Given the description of an element on the screen output the (x, y) to click on. 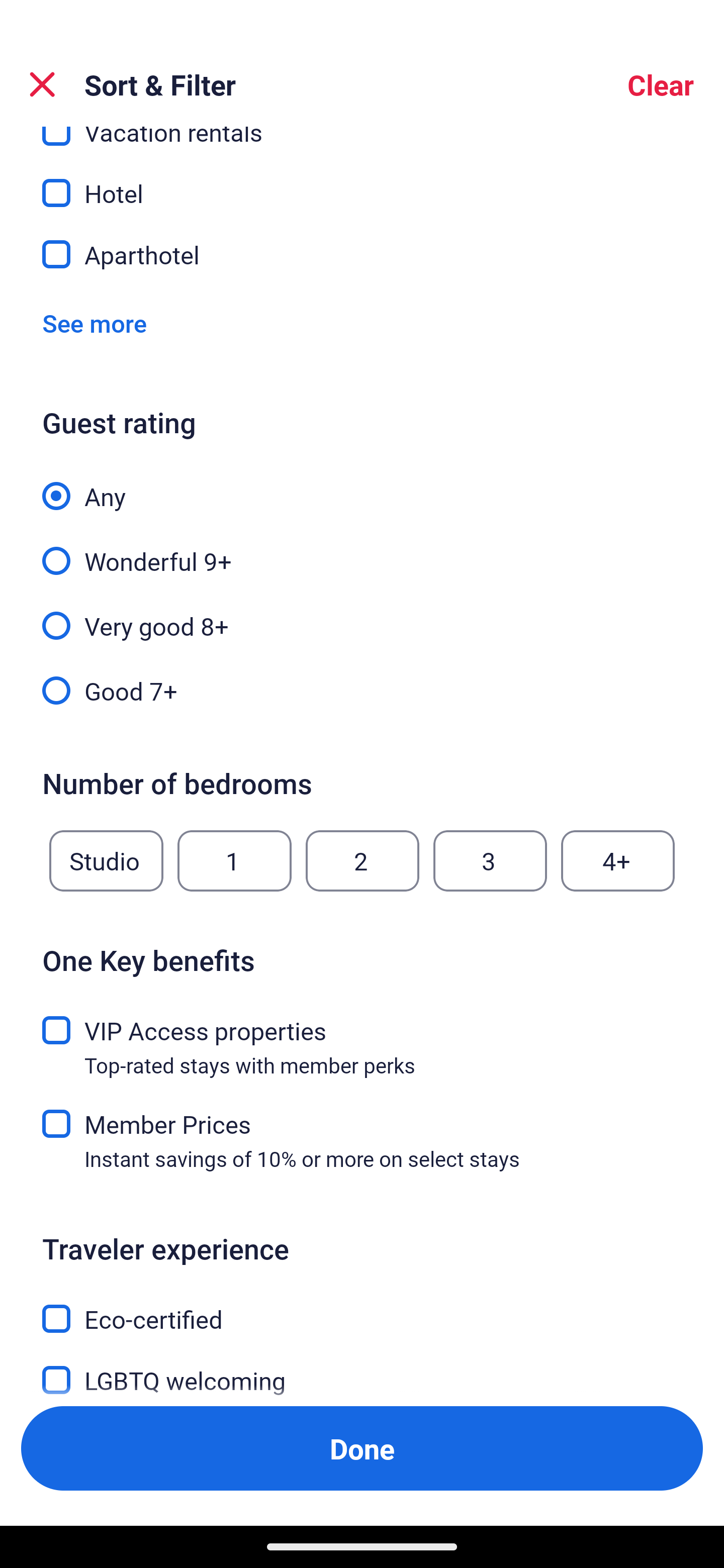
Close Sort and Filter (42, 84)
Clear (660, 84)
Hotel, Hotel (361, 181)
Aparthotel, Aparthotel (361, 254)
See more See more property types Link (93, 322)
Wonderful 9+ (361, 549)
Very good 8+ (361, 614)
Good 7+ (361, 689)
Studio (106, 860)
1 (234, 860)
2 (362, 860)
3 (490, 860)
4+ (617, 860)
Eco-certified, Eco-certified (361, 1307)
LGBTQ welcoming, LGBTQ welcoming (361, 1369)
Apply and close Sort and Filter Done (361, 1448)
